Given the description of an element on the screen output the (x, y) to click on. 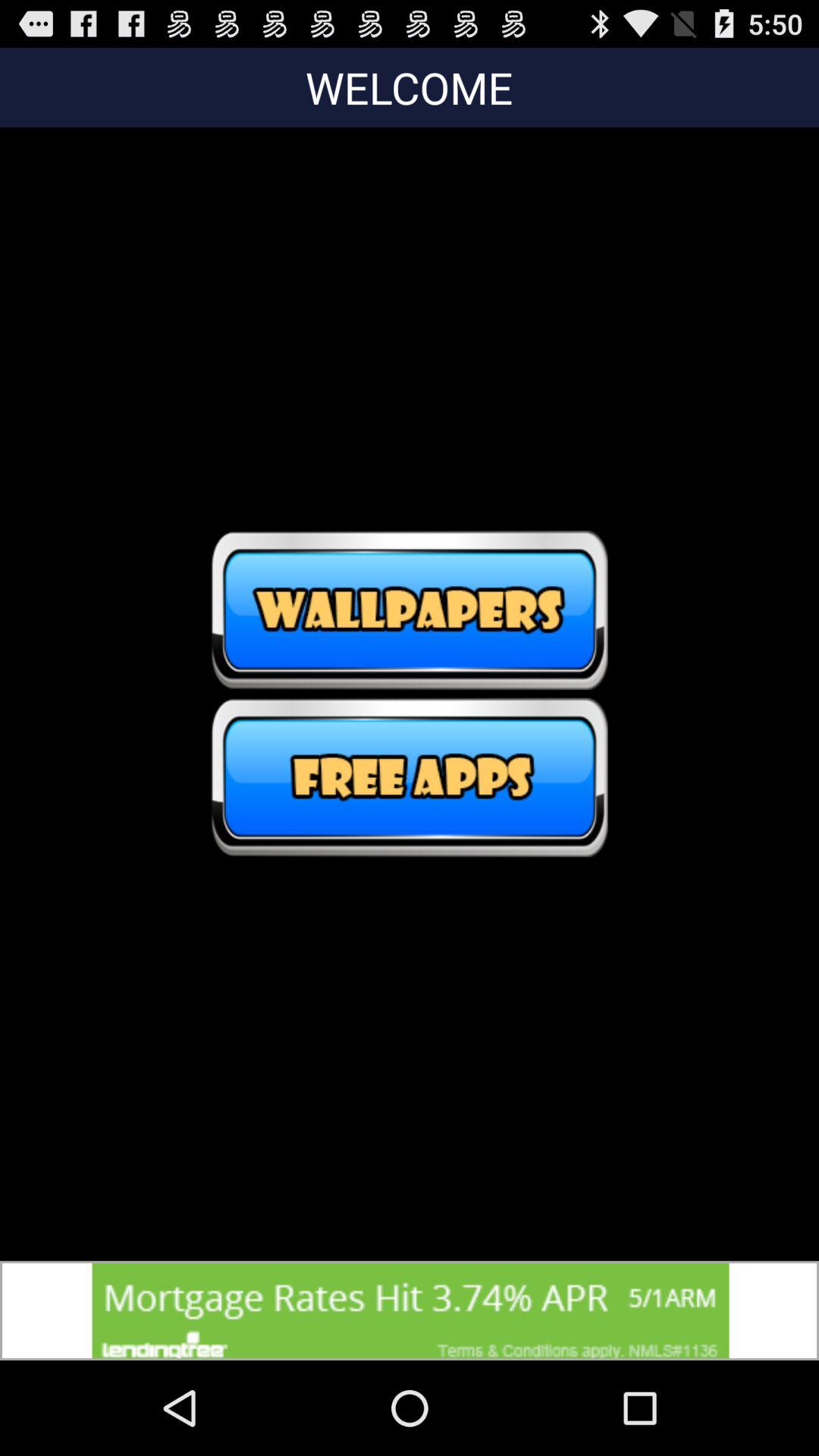
go to free app option click (409, 777)
